Given the description of an element on the screen output the (x, y) to click on. 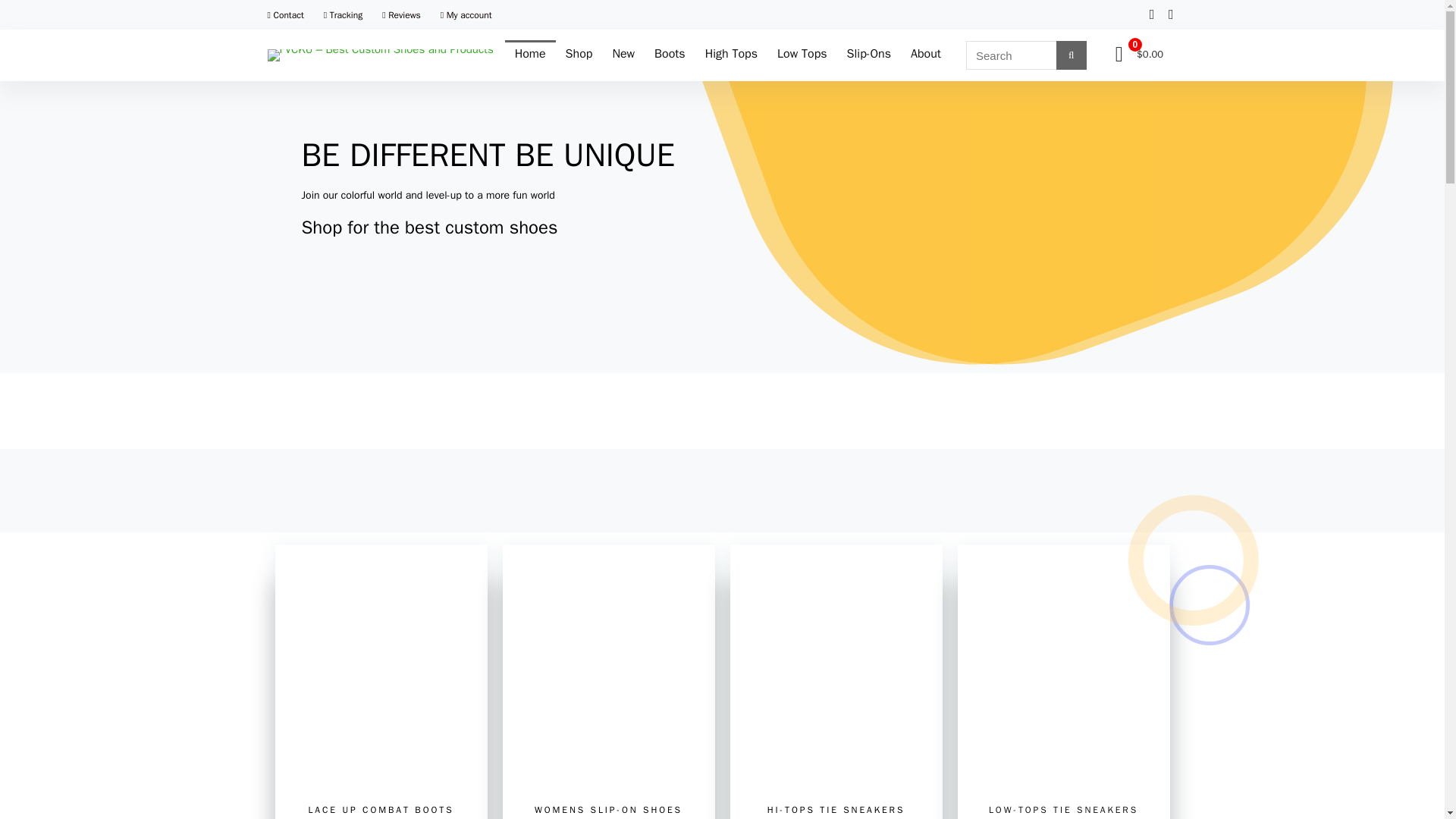
Reviews (400, 15)
Home (530, 54)
Boots (670, 54)
Tracking (342, 15)
Slip-Ons (869, 54)
New (623, 54)
Shop (579, 54)
About (925, 54)
High Tops (731, 54)
Contact (284, 15)
Low Tops (802, 54)
My account (466, 15)
